Given the description of an element on the screen output the (x, y) to click on. 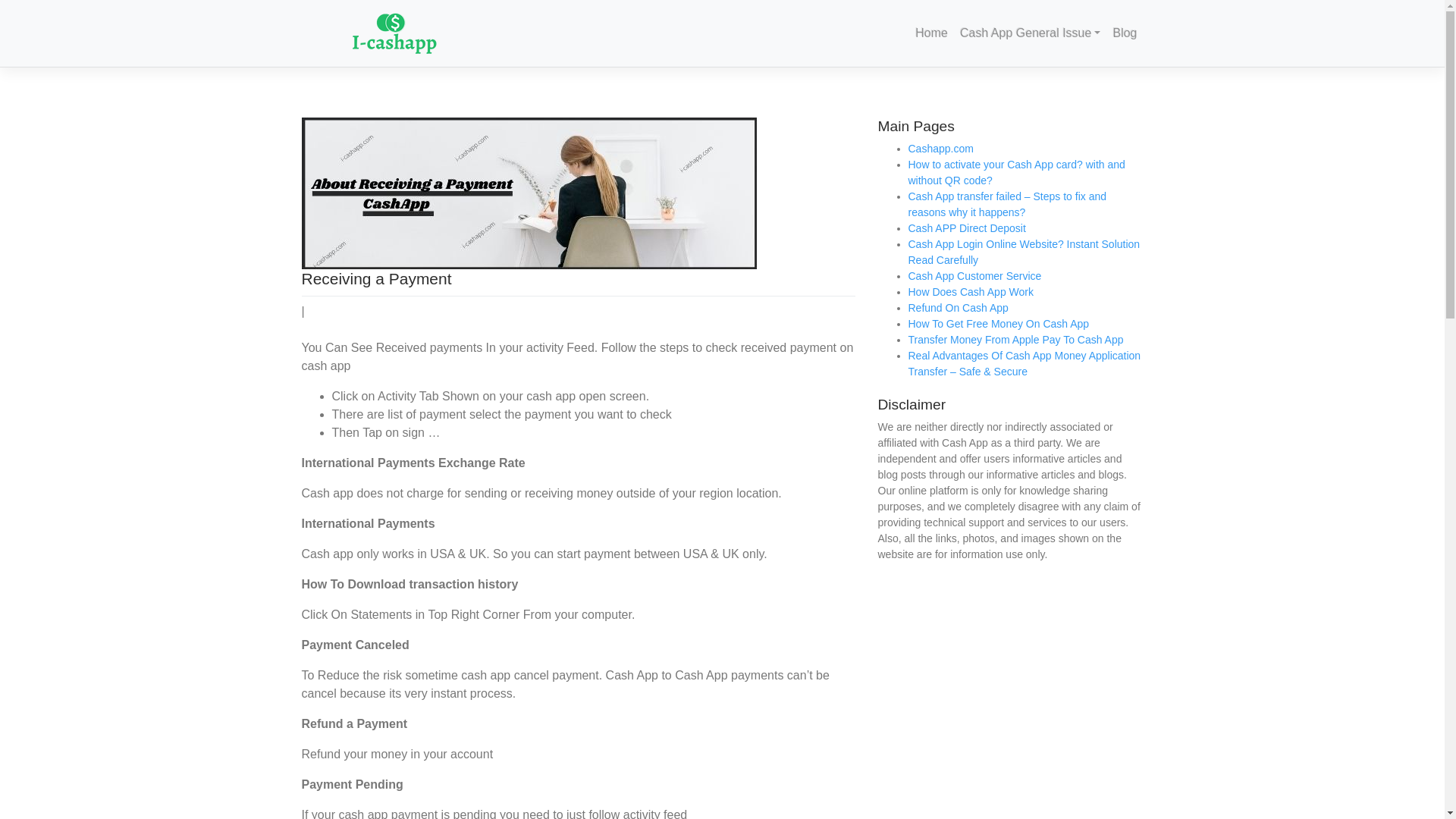
Cashapp.com (941, 148)
Blog (1124, 33)
Home (930, 33)
Cash App General Issue (1029, 33)
Blog (1124, 33)
Cash App General Issue (1029, 33)
Home (930, 33)
